Given the description of an element on the screen output the (x, y) to click on. 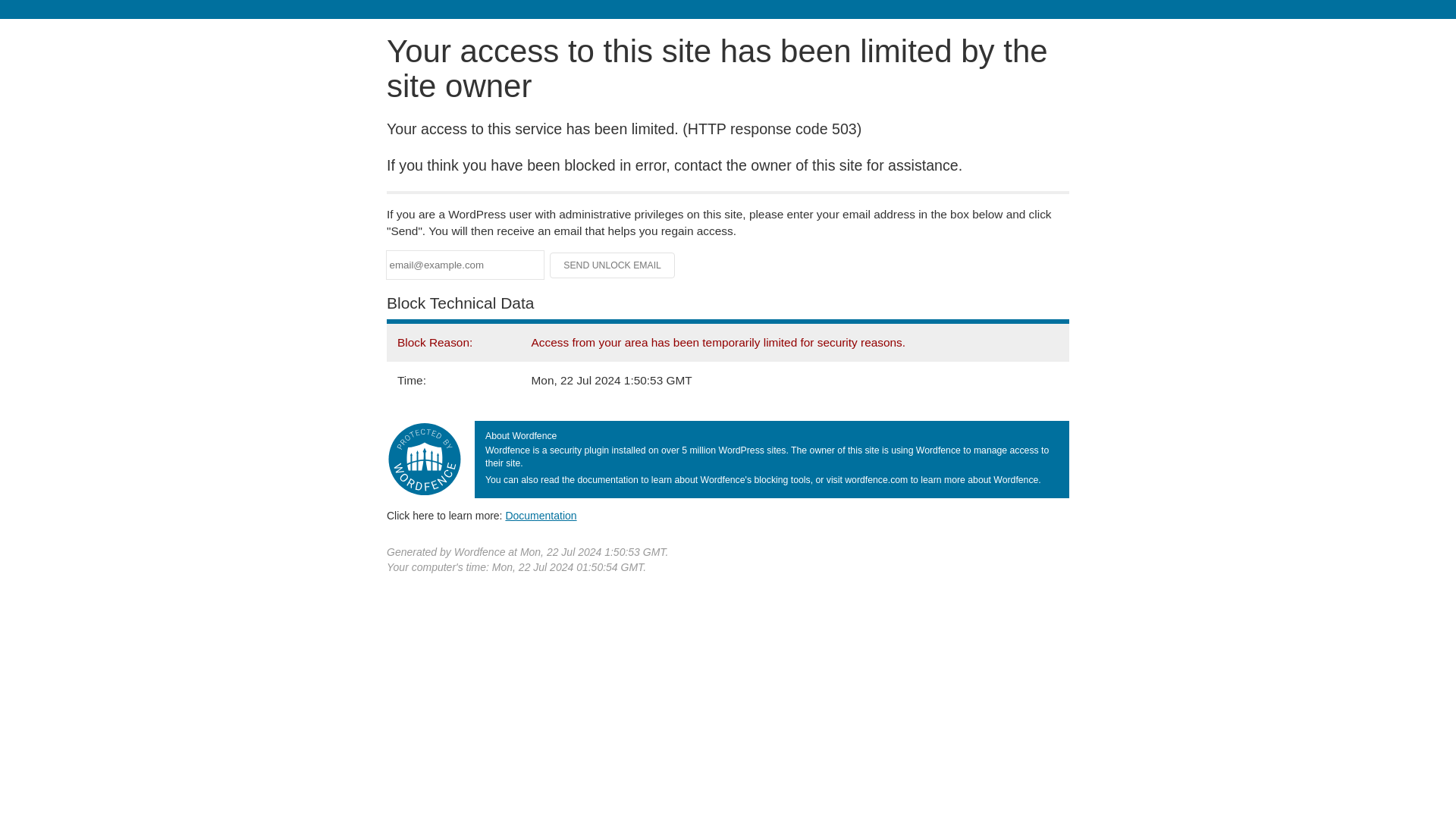
Send Unlock Email (612, 265)
Documentation (540, 515)
Send Unlock Email (612, 265)
